Given the description of an element on the screen output the (x, y) to click on. 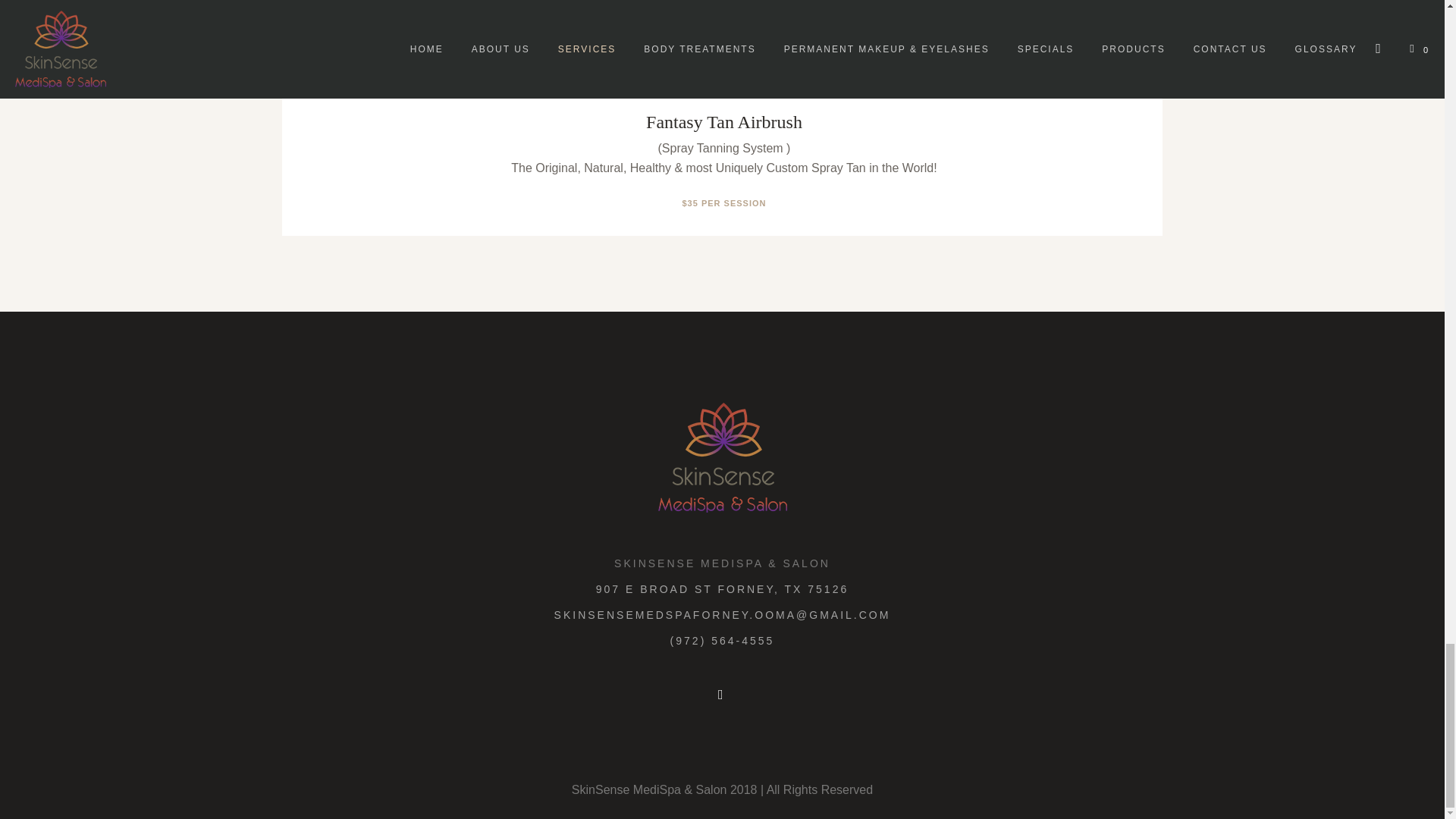
Skinsense Medical Spa (722, 457)
Facebook (720, 694)
Fantasy Tan Airbrush (724, 121)
907 E BROAD ST FORNEY, TX 75126 (721, 589)
